Given the description of an element on the screen output the (x, y) to click on. 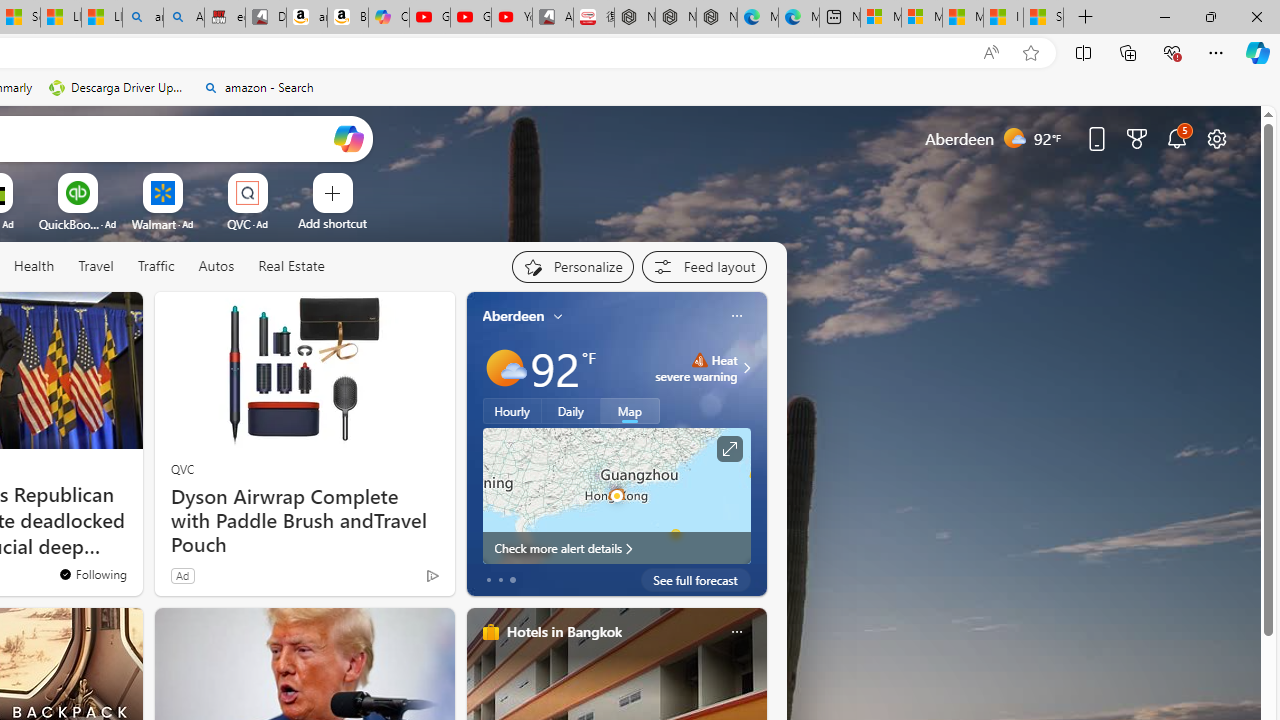
Click to see more information (728, 449)
Descarga Driver Updater (118, 88)
Feed settings (703, 266)
Page settings (1216, 138)
